Given the description of an element on the screen output the (x, y) to click on. 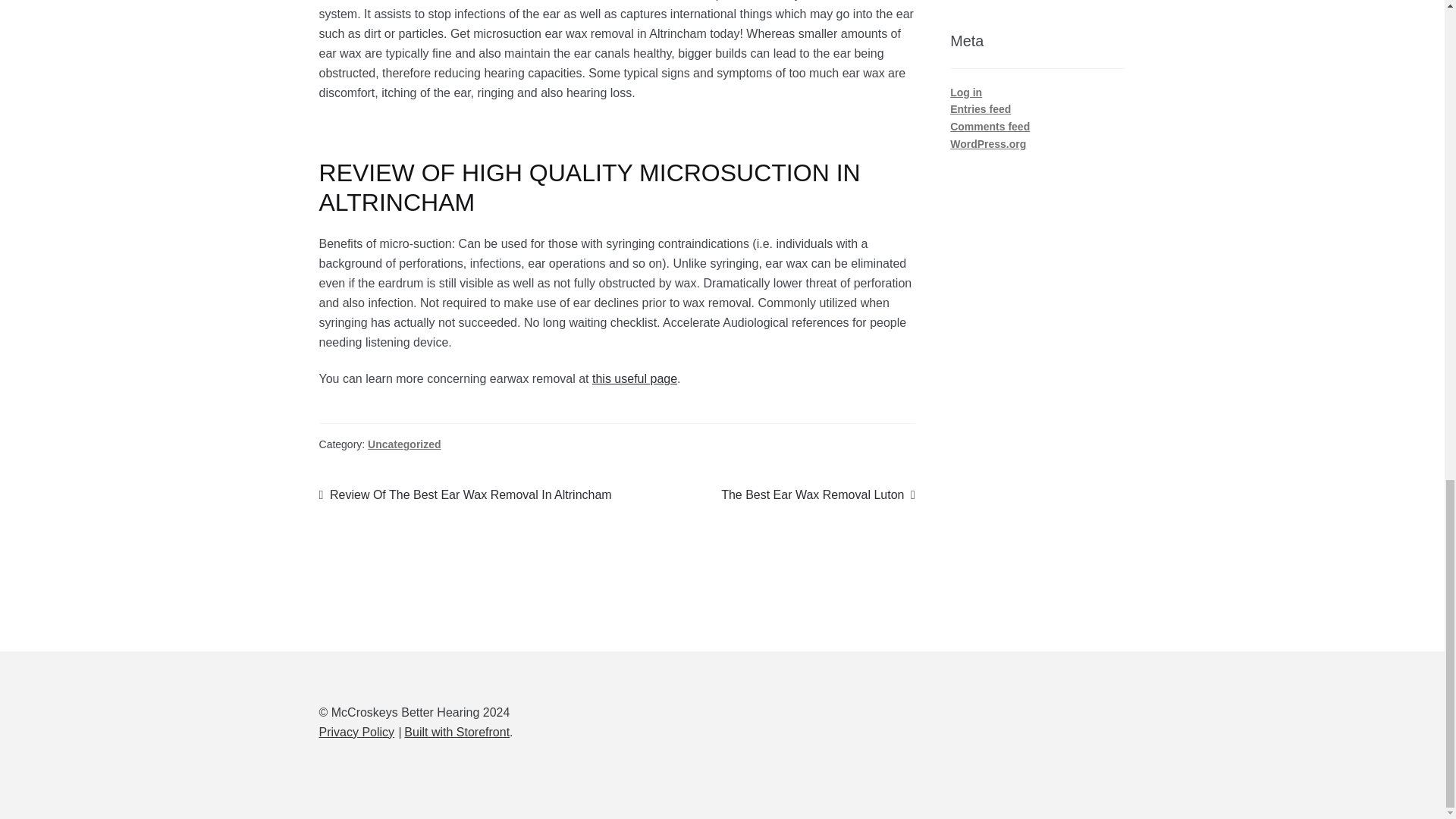
this useful page (634, 378)
Uncategorized (404, 444)
